Given the description of an element on the screen output the (x, y) to click on. 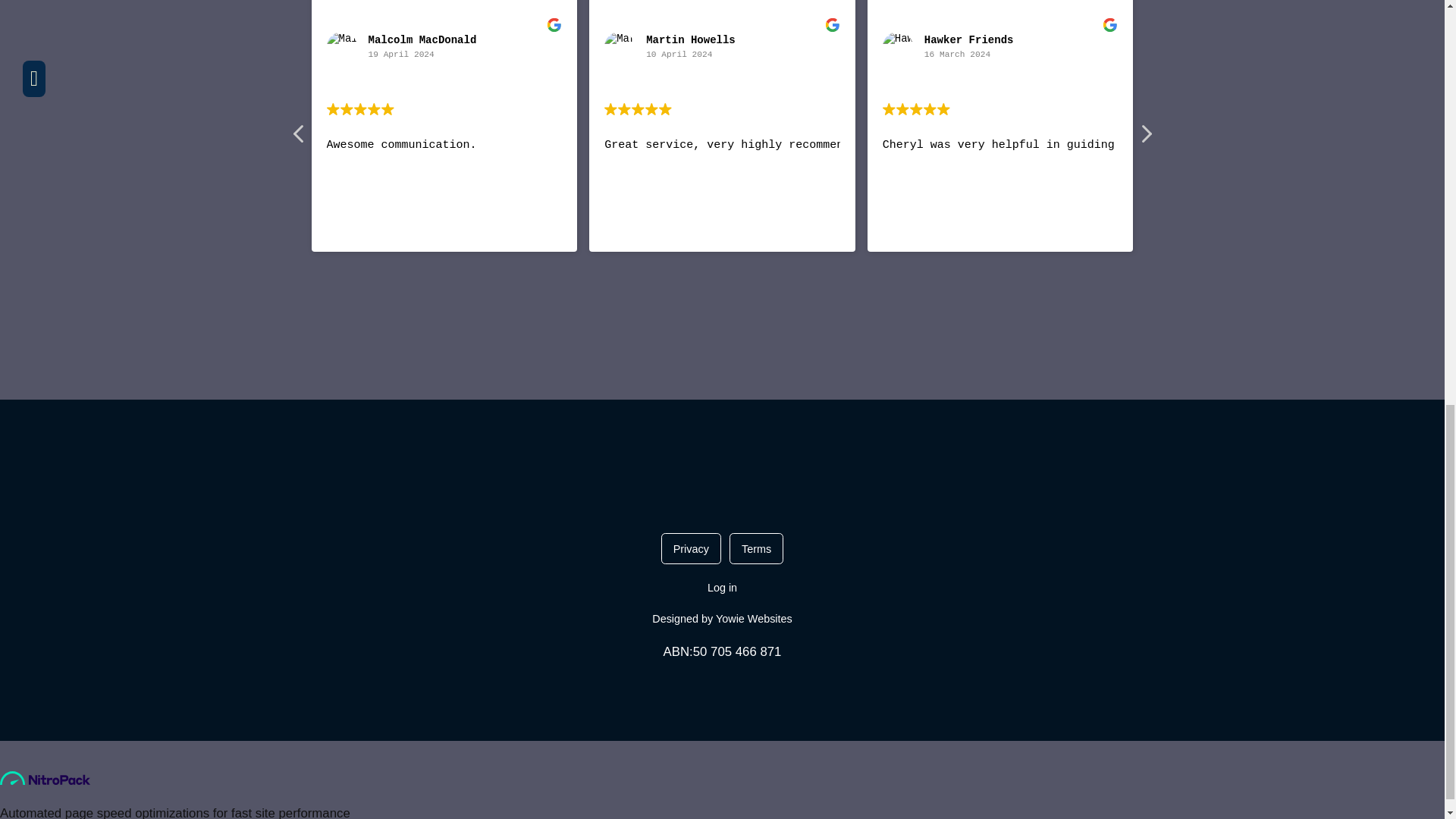
Terms (756, 549)
Privacy (690, 549)
Log in (721, 587)
